Given the description of an element on the screen output the (x, y) to click on. 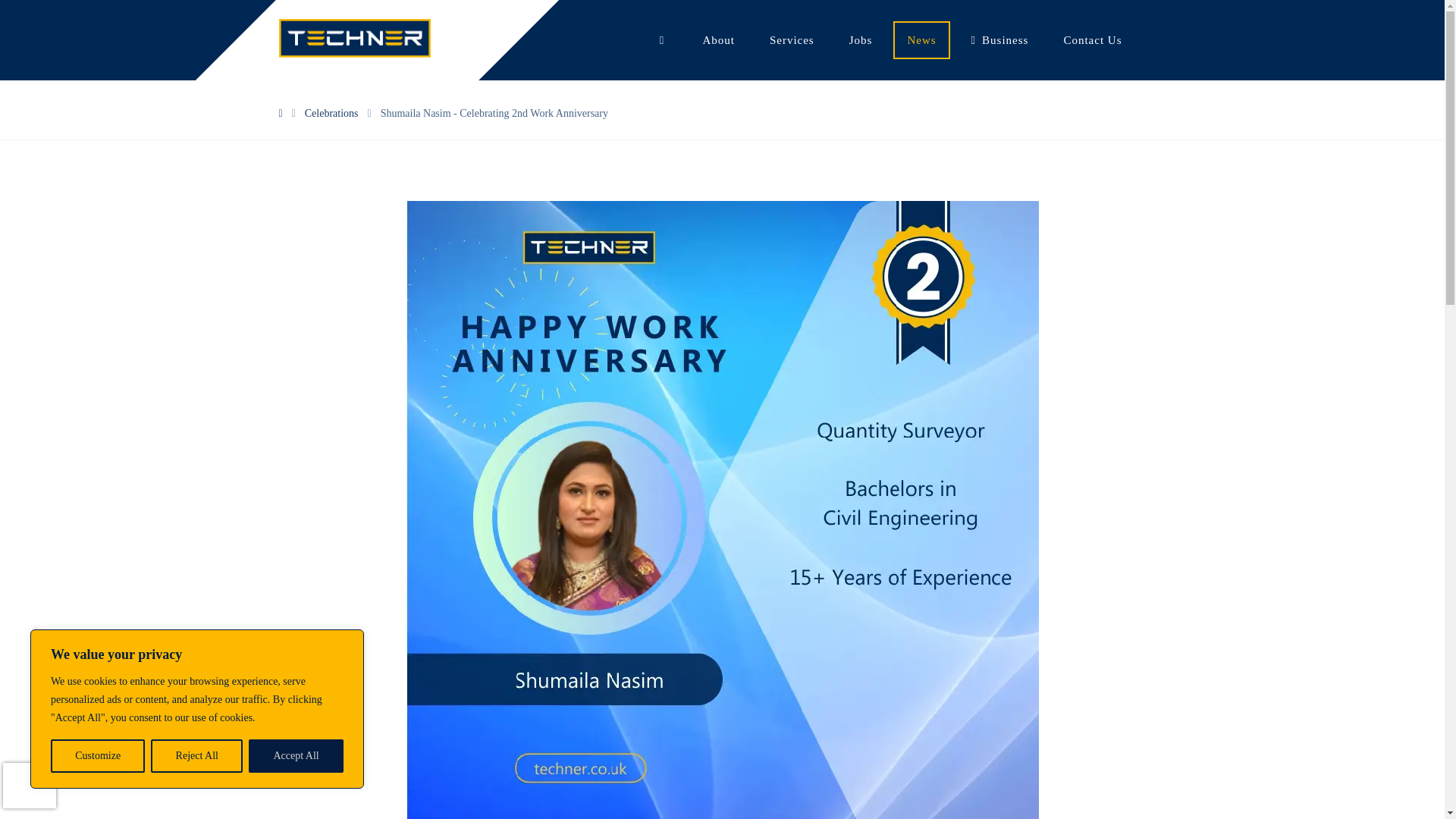
Services (791, 39)
Contact Us (1091, 39)
Jobs (861, 39)
About (718, 39)
reCAPTCHA (29, 785)
Business (1000, 39)
Accept All (295, 756)
News (921, 39)
Customize (97, 756)
Reject All (197, 756)
